Given the description of an element on the screen output the (x, y) to click on. 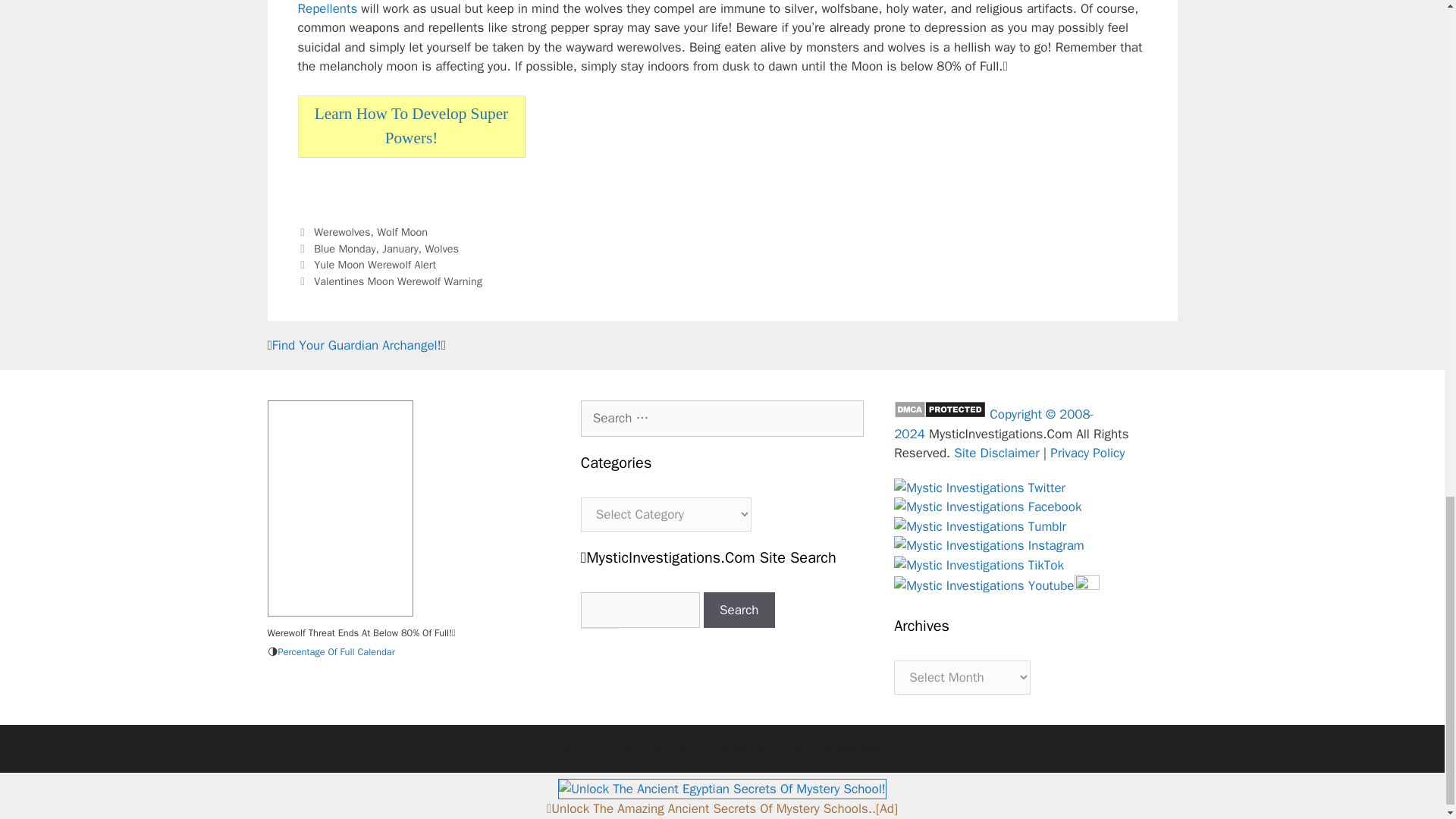
Werewolf Repellents (691, 8)
Scroll back to top (1406, 248)
Search (738, 610)
DMCA.com Protection Status (939, 414)
Search for: (721, 418)
